Given the description of an element on the screen output the (x, y) to click on. 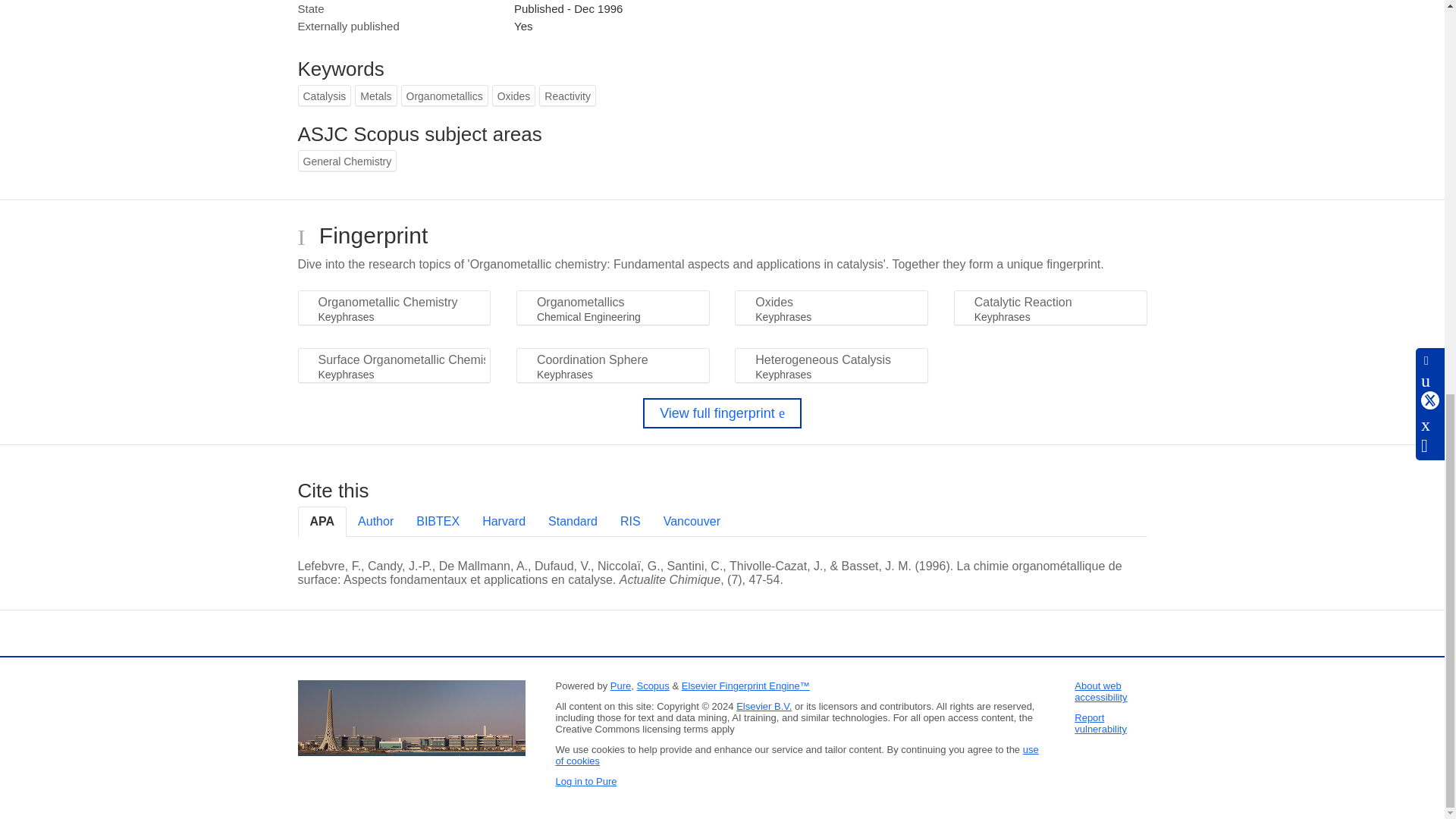
View full fingerprint (722, 413)
Scopus (652, 685)
use of cookies (796, 754)
About web accessibility (1100, 691)
Elsevier B.V. (764, 706)
Log in to Pure (584, 781)
Pure (620, 685)
